Given the description of an element on the screen output the (x, y) to click on. 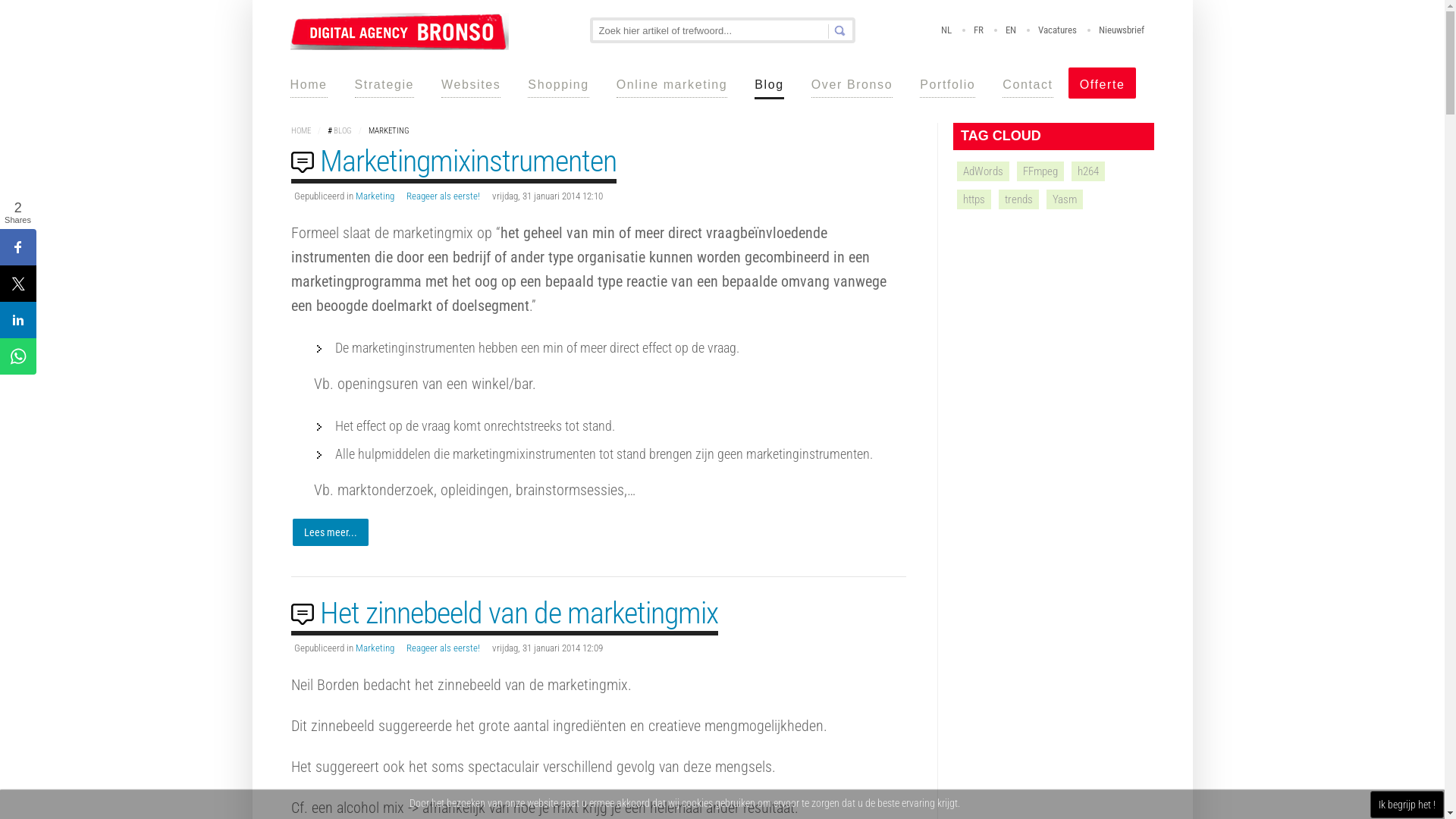
BLOG Element type: text (342, 130)
Blog Element type: text (768, 84)
FFmpeg Element type: text (1039, 171)
Offerte Element type: text (1102, 82)
Shopping Element type: text (557, 83)
Lees meer... Element type: text (330, 532)
EN Element type: text (1010, 29)
Portfolio Element type: text (947, 83)
Over Bronso Element type: text (851, 83)
trends Element type: text (1018, 199)
Reageer als eerste! Element type: text (443, 195)
Online marketing Element type: text (672, 83)
AdWords Element type: text (983, 171)
Het zinnebeeld van de marketingmix Element type: text (519, 612)
Reageer als eerste! Element type: text (443, 647)
HOME Element type: text (300, 130)
Contact Element type: text (1027, 83)
NL Element type: text (945, 29)
Vacatures Element type: text (1056, 29)
Strategie Element type: text (384, 83)
Marketing Element type: text (373, 647)
FR Element type: text (978, 29)
Yasm Element type: text (1064, 199)
h264 Element type: text (1087, 171)
https Element type: text (974, 199)
Home Element type: text (307, 83)
Websites Element type: text (470, 83)
Nieuwsbrief Element type: text (1120, 29)
Marketing Element type: text (373, 195)
Marketingmixinstrumenten Element type: text (468, 160)
